Given the description of an element on the screen output the (x, y) to click on. 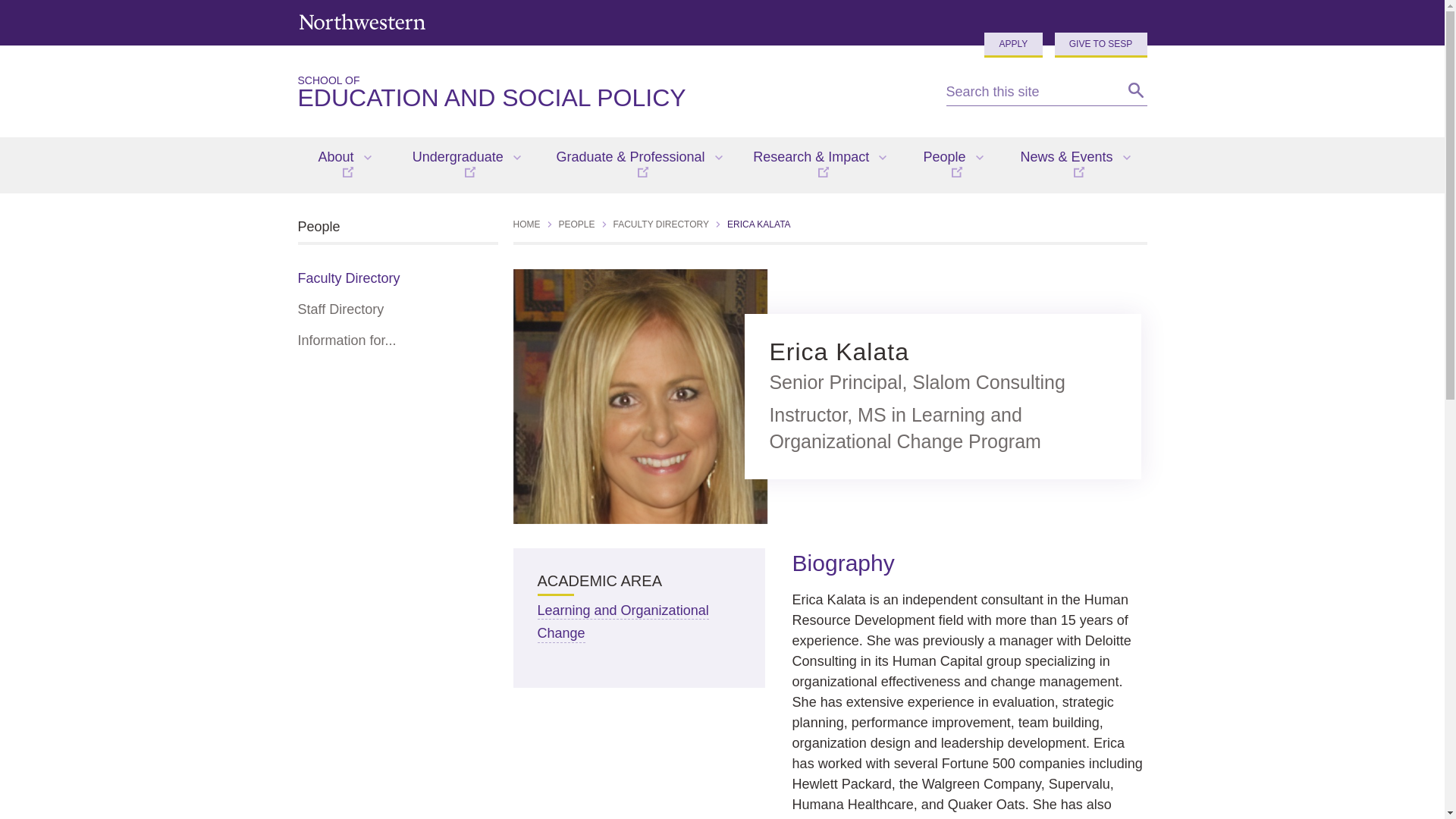
APPLY (1013, 44)
Northwestern University Home (609, 93)
School of Education and Social Policy Home (361, 21)
GIVE TO SESP (609, 93)
